Given the description of an element on the screen output the (x, y) to click on. 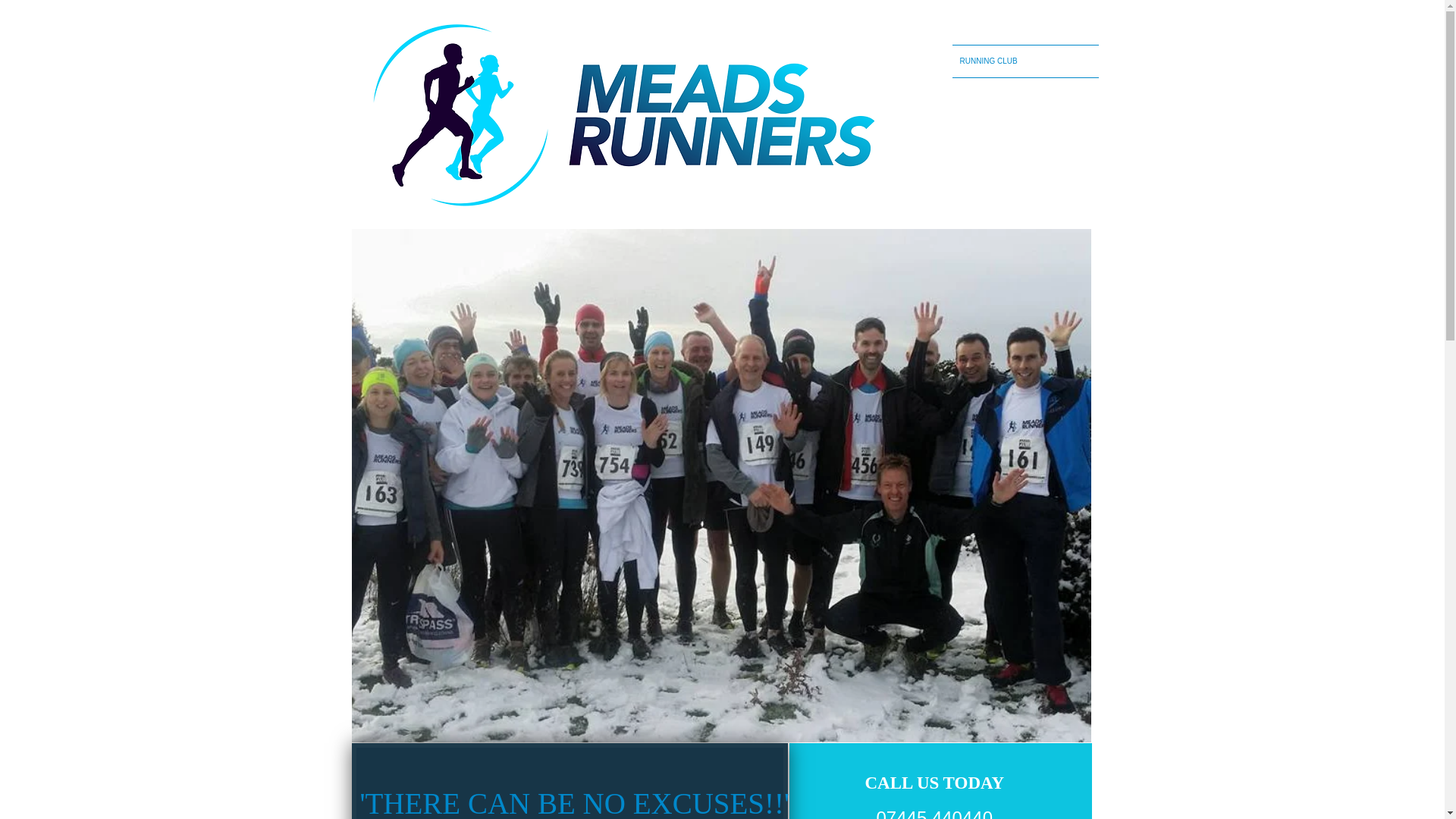
Facebook Like (1051, 18)
RUNNING CLUB (1025, 60)
